Given the description of an element on the screen output the (x, y) to click on. 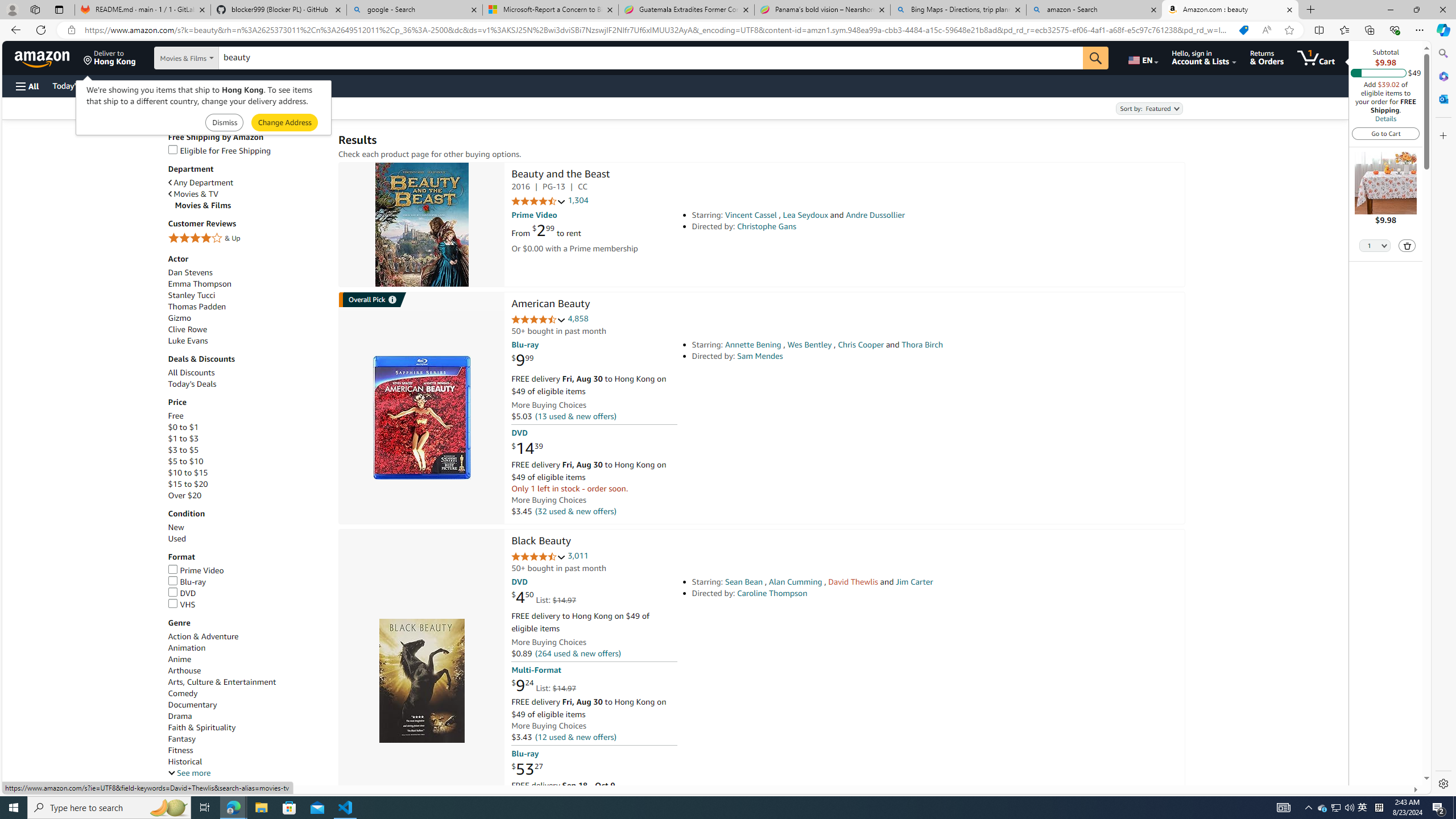
$0 to $1 (247, 427)
Gizmo (179, 317)
Directed by: Sam Mendes (850, 355)
Delete (1407, 245)
Any Department (200, 182)
DVD (181, 592)
Historical (184, 761)
Wes Bentley (809, 344)
Caroline Thompson (772, 593)
Stanley Tucci (247, 295)
Hello, sign in Account & Lists (1203, 57)
Today's Deals (247, 384)
